Given the description of an element on the screen output the (x, y) to click on. 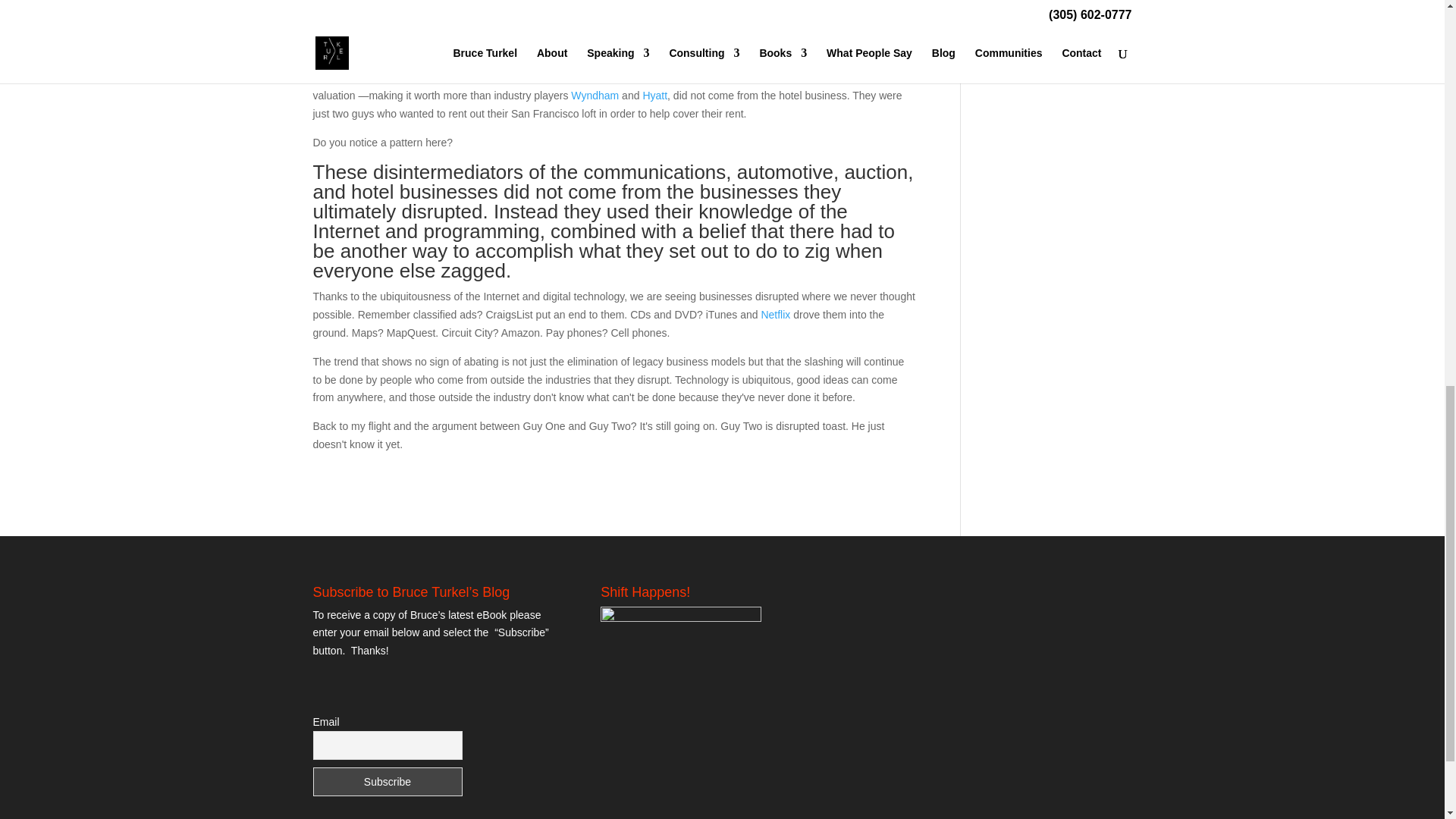
Posts tagged with Wyndham (594, 95)
Posts tagged with Airbnb (613, 59)
Netflix (775, 314)
Posts tagged with Social Media (643, 0)
Hyatt (654, 95)
Posts tagged with Elon Musk (534, 12)
Airbnb (613, 59)
communication (422, 12)
Posts tagged with Hyatt (654, 95)
Subscribe (387, 781)
social media (643, 0)
Posts tagged with NetFlix (775, 314)
Posts tagged with Communication (422, 12)
